Given the description of an element on the screen output the (x, y) to click on. 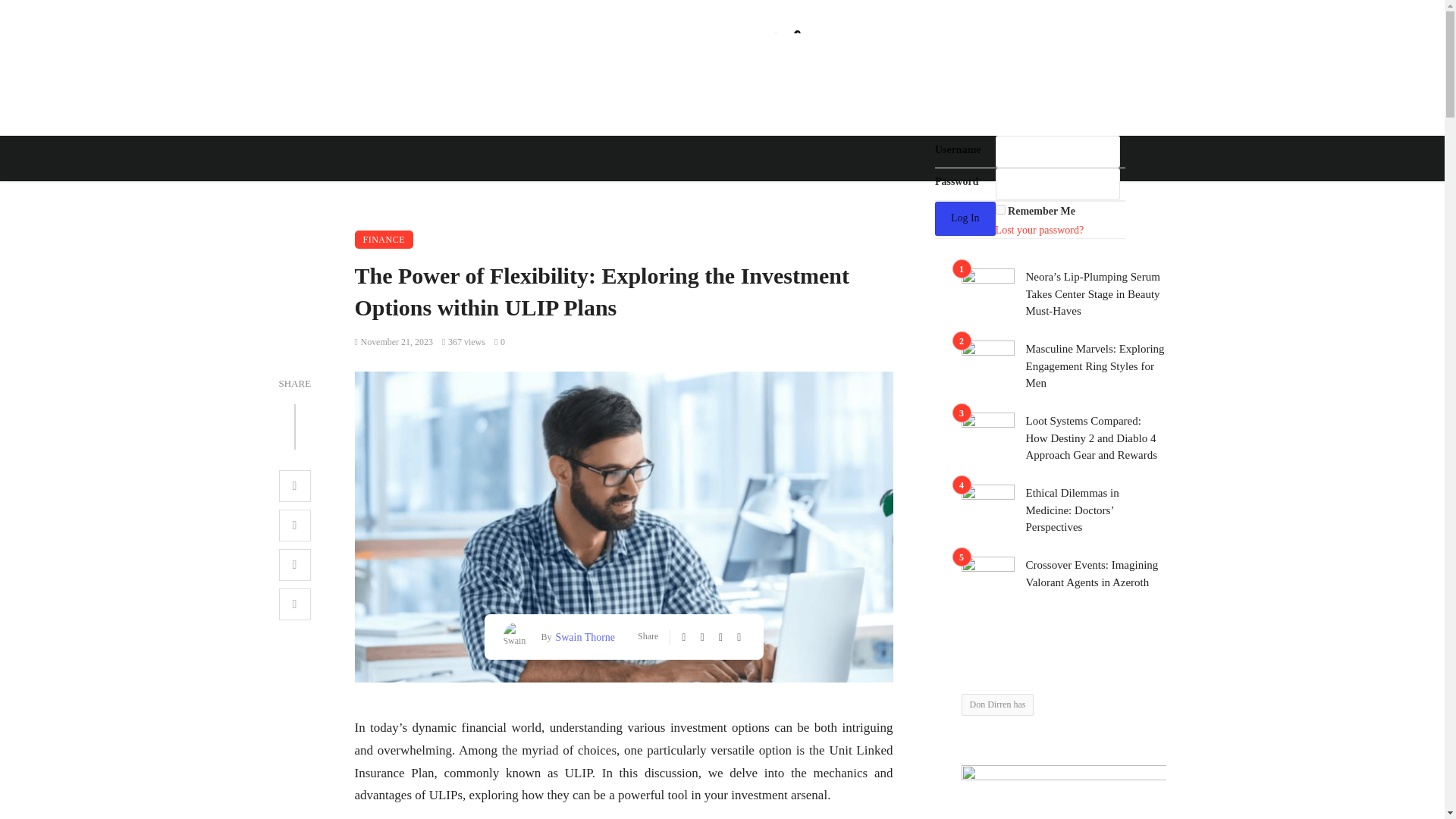
November 21, 2023 at 7:49 am (394, 341)
0 Comments (500, 341)
HOME (636, 194)
Log In (964, 218)
Swain Thorne (582, 637)
EDUCATION (502, 194)
REAL ESTATE (710, 194)
TECHNOLOGY (884, 194)
Share on Twitter (295, 525)
Password Lost and Found (1039, 229)
